Given the description of an element on the screen output the (x, y) to click on. 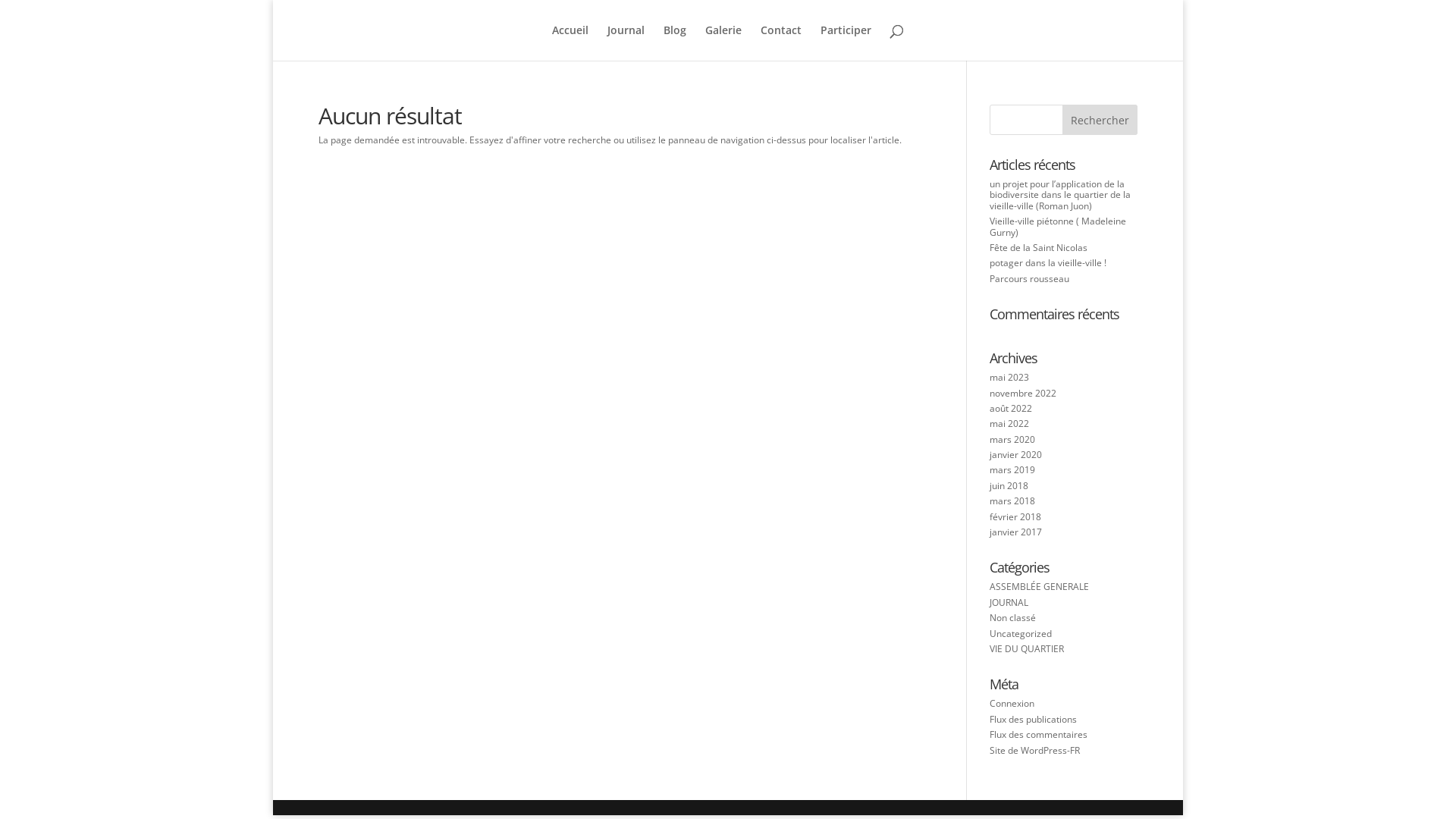
mars 2018 Element type: text (1012, 500)
Parcours rousseau Element type: text (1029, 278)
Flux des publications Element type: text (1032, 718)
novembre 2022 Element type: text (1022, 392)
Uncategorized Element type: text (1020, 633)
mai 2023 Element type: text (1009, 376)
Journal Element type: text (625, 42)
potager dans la vieille-ville ! Element type: text (1047, 262)
Rechercher Element type: text (1099, 119)
mars 2020 Element type: text (1012, 439)
Participer Element type: text (845, 42)
VIE DU QUARTIER Element type: text (1026, 648)
juin 2018 Element type: text (1008, 485)
mars 2019 Element type: text (1012, 469)
JOURNAL Element type: text (1008, 602)
mai 2022 Element type: text (1009, 423)
Contact Element type: text (780, 42)
janvier 2017 Element type: text (1015, 531)
Blog Element type: text (674, 42)
janvier 2020 Element type: text (1015, 454)
Connexion Element type: text (1011, 702)
Site de WordPress-FR Element type: text (1034, 749)
Accueil Element type: text (570, 42)
Flux des commentaires Element type: text (1038, 734)
Galerie Element type: text (723, 42)
